Given the description of an element on the screen output the (x, y) to click on. 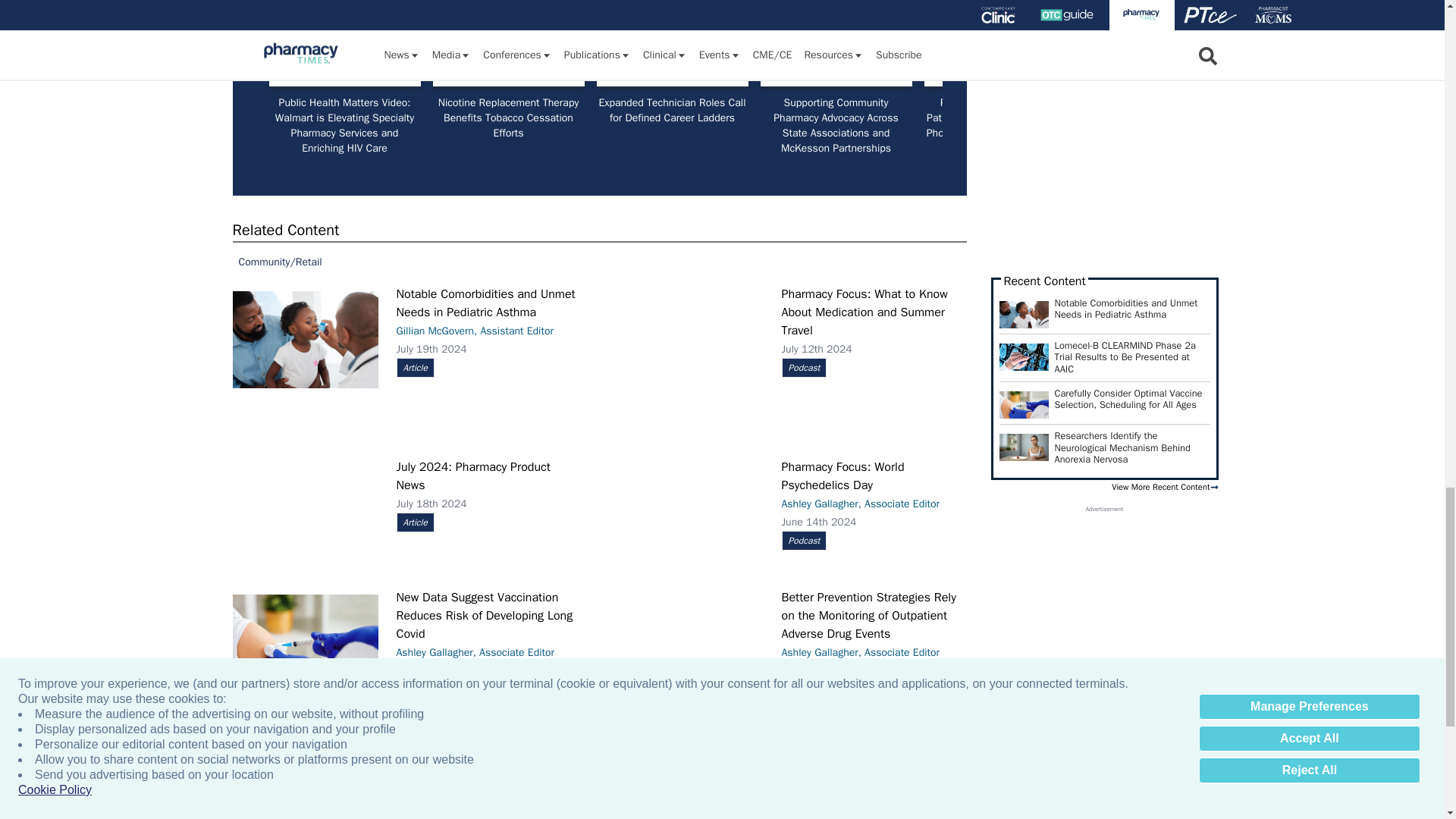
Expanded Technician Roles Call for Defined Career Ladders (671, 43)
